Given the description of an element on the screen output the (x, y) to click on. 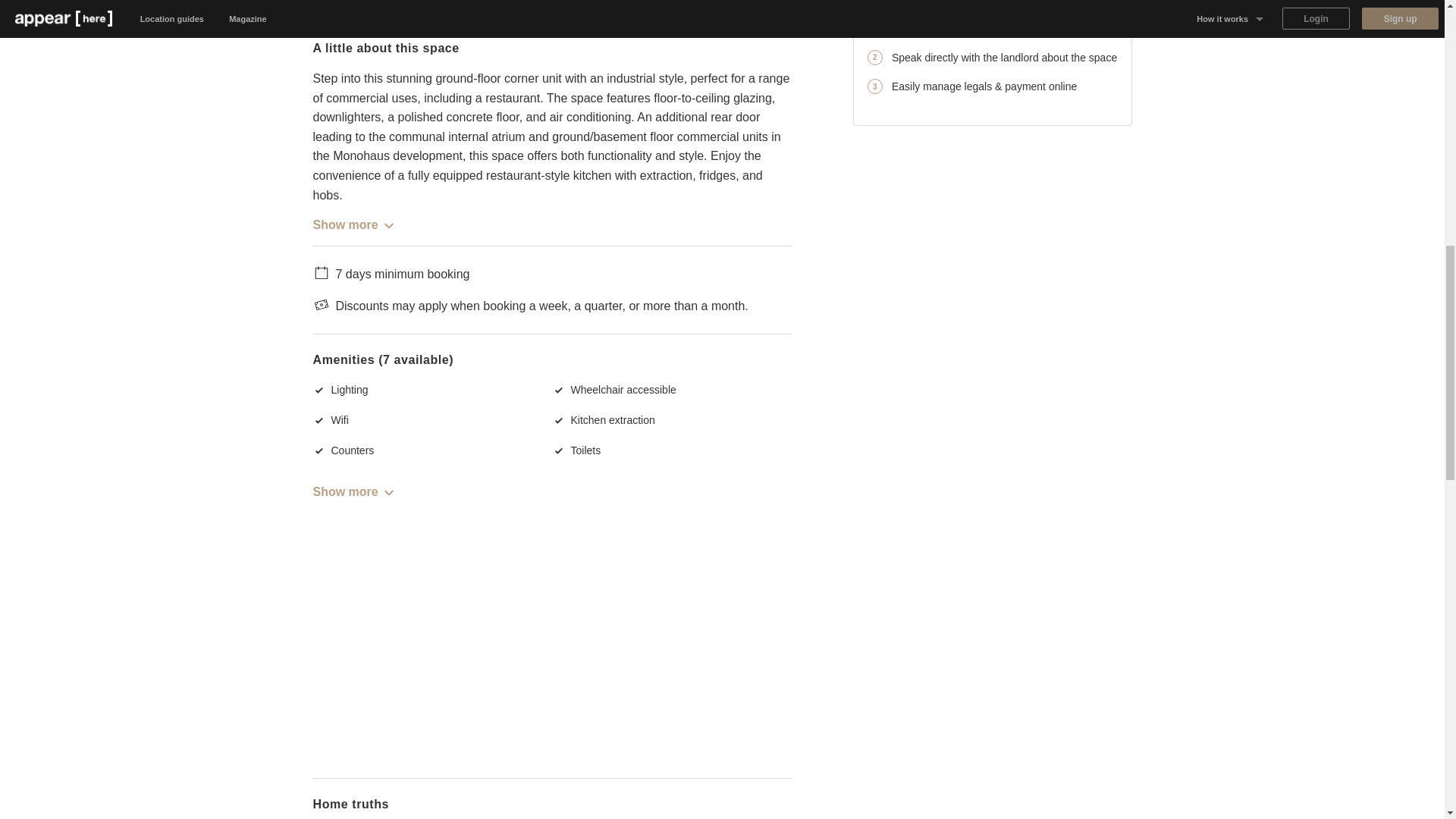
Chevron-up (388, 492)
Chevron-up (388, 225)
